Given the description of an element on the screen output the (x, y) to click on. 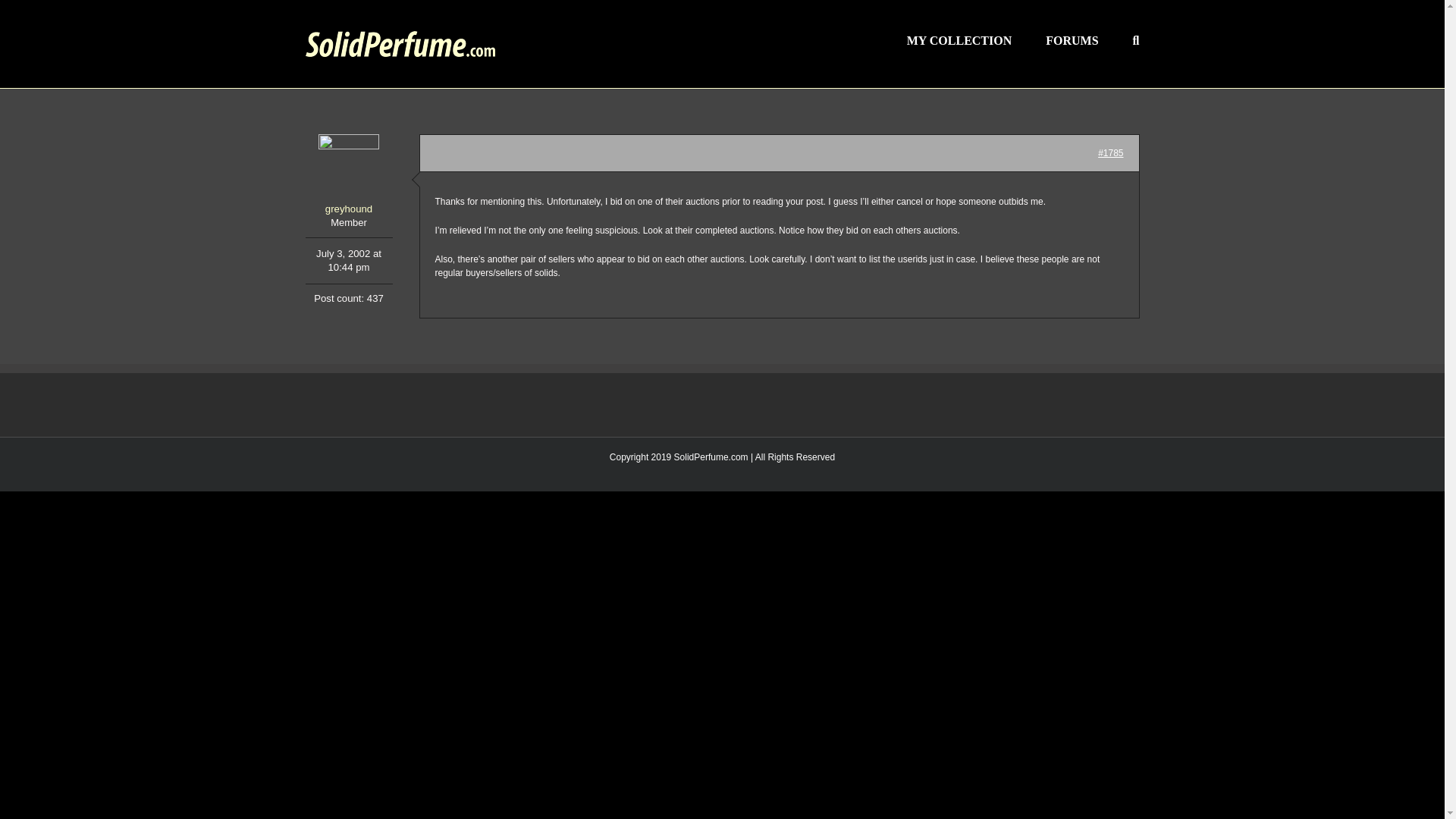
Search (1136, 39)
View greyhound's profile (347, 175)
MY COLLECTION (959, 39)
greyhound (347, 175)
FORUMS (1071, 39)
